Given the description of an element on the screen output the (x, y) to click on. 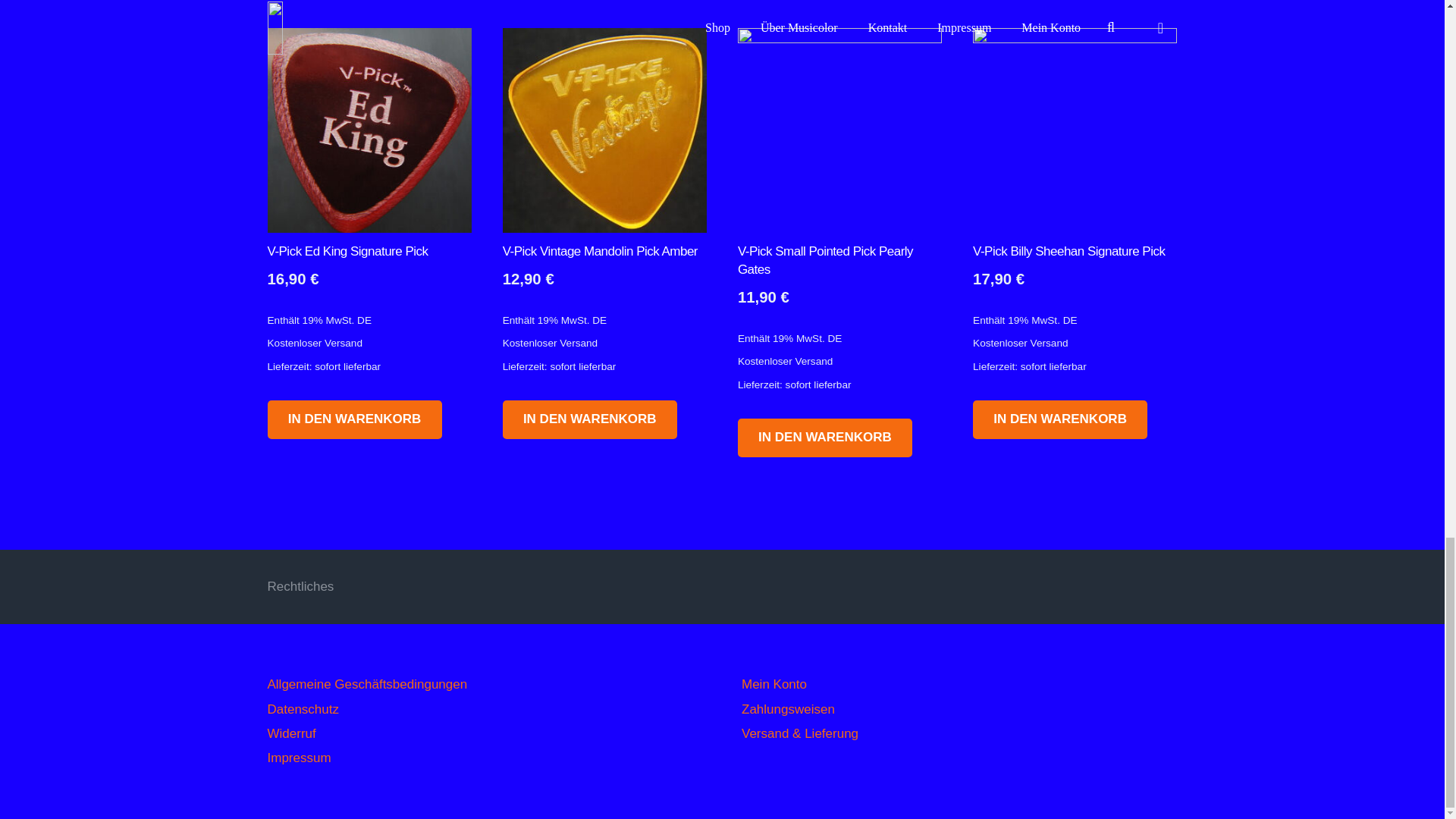
Zahlungsweisen (787, 708)
IN DEN WARENKORB (589, 419)
IN DEN WARENKORB (825, 437)
Impressum (298, 757)
IN DEN WARENKORB (353, 419)
Datenschutz (302, 708)
IN DEN WARENKORB (1059, 419)
Widerruf (290, 733)
Mein Konto (773, 684)
